Given the description of an element on the screen output the (x, y) to click on. 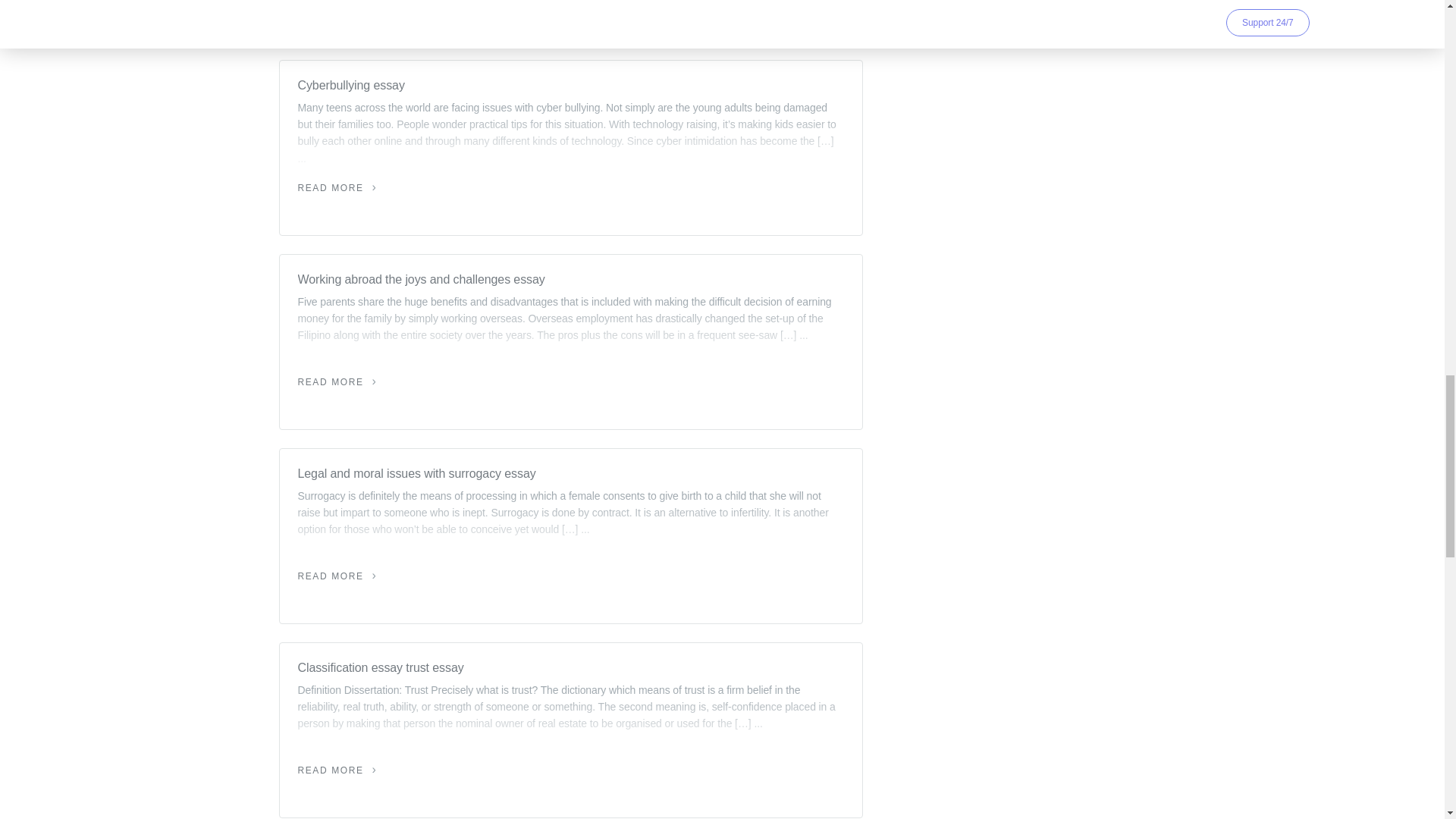
Legal and moral issues with surrogacy essay (570, 474)
READ MORE (337, 381)
Working abroad the joys and challenges essay (570, 279)
Classification essay trust essay (570, 668)
READ MORE (337, 187)
READ MORE (337, 575)
READ MORE (337, 769)
Cyberbullying essay (570, 85)
